Given the description of an element on the screen output the (x, y) to click on. 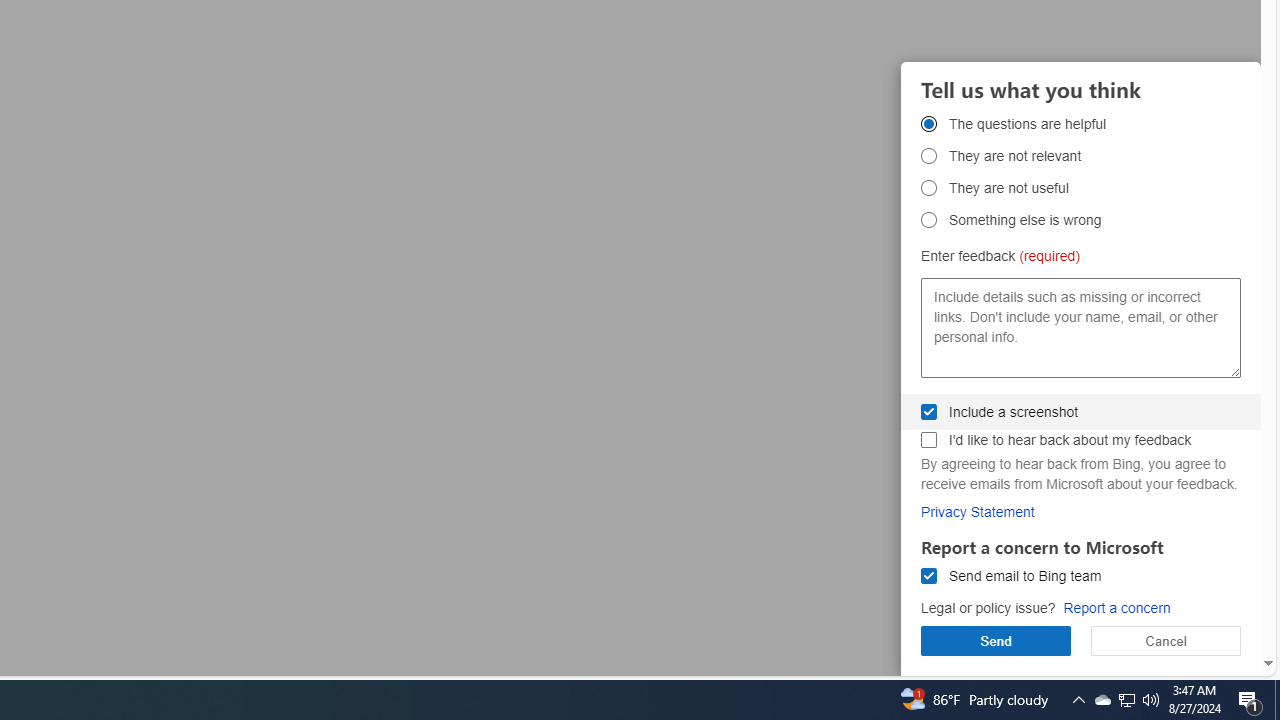
Privacy Statement (978, 511)
Send (996, 640)
They are not useful They are not useful (928, 187)
They are not relevant They are not relevant (928, 156)
Include a screenshot Include a screenshot (928, 411)
Send email to Bing team Send email to Bing team (928, 575)
Report a concern (1116, 607)
The questions are helpful The questions are helpful (928, 123)
Something else is wrong Something else is wrong (928, 219)
Cancel (1165, 640)
